Given the description of an element on the screen output the (x, y) to click on. 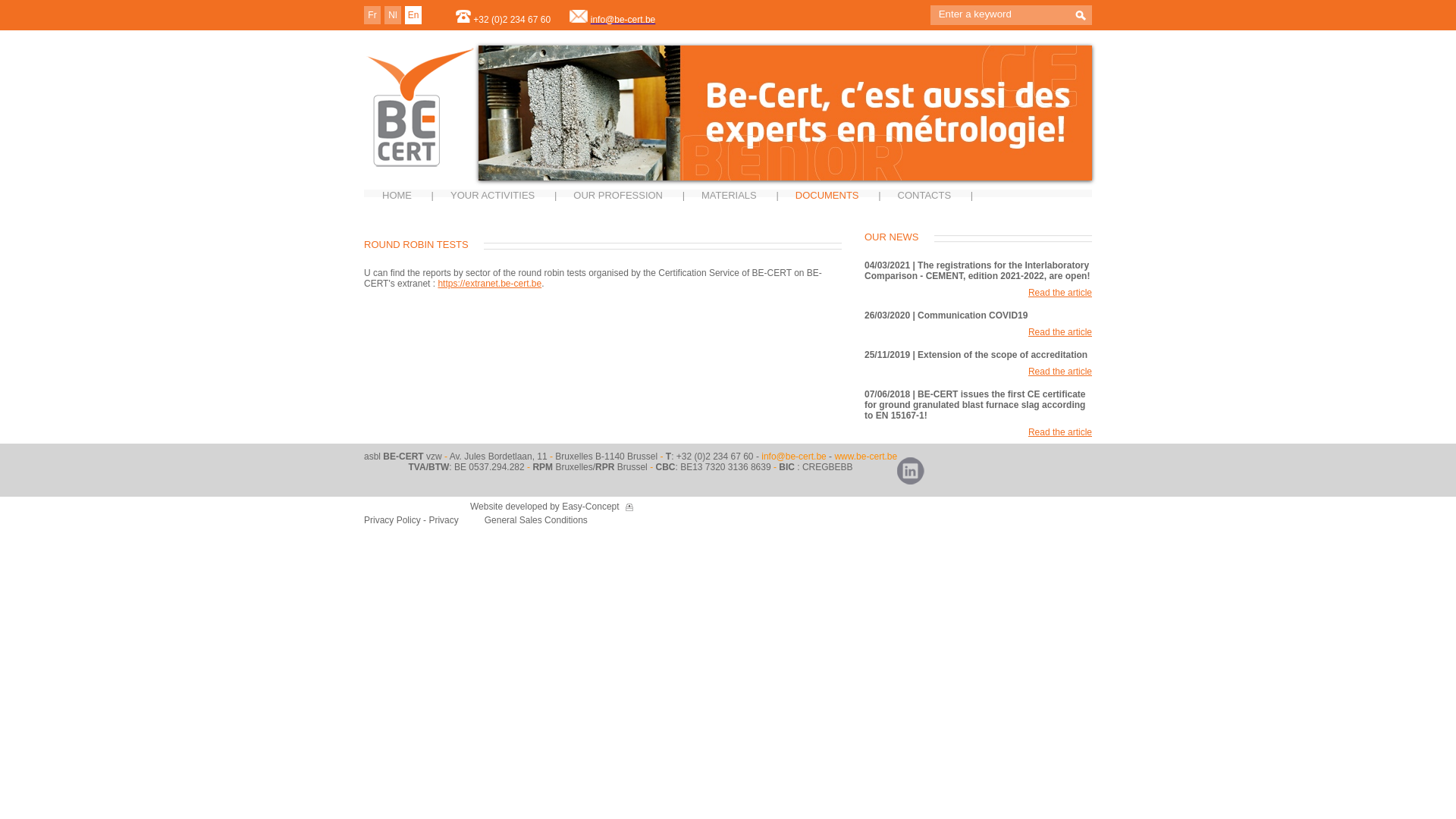
Website developed by Easy-Concept Element type: text (544, 506)
YOUR ACTIVITIES Element type: text (492, 194)
Read the article Element type: text (1060, 331)
MATERIALS Element type: text (728, 194)
https://extranet.be-cert.be Element type: text (489, 283)
Fr Element type: text (371, 14)
CONTACTS Element type: text (924, 194)
HOME Element type: text (396, 194)
Privacy Policy Element type: text (393, 519)
DOCUMENTS Element type: text (827, 194)
General Sales Conditions Element type: text (535, 519)
En Element type: text (413, 14)
OUR PROFESSION Element type: text (617, 194)
Read the article Element type: text (1060, 292)
  Element type: text (1081, 16)
Nl Element type: text (392, 14)
info@be-cert.be Element type: text (622, 19)
Privacy Element type: text (444, 519)
Read the article Element type: text (1060, 371)
Read the article Element type: text (1060, 431)
